Given the description of an element on the screen output the (x, y) to click on. 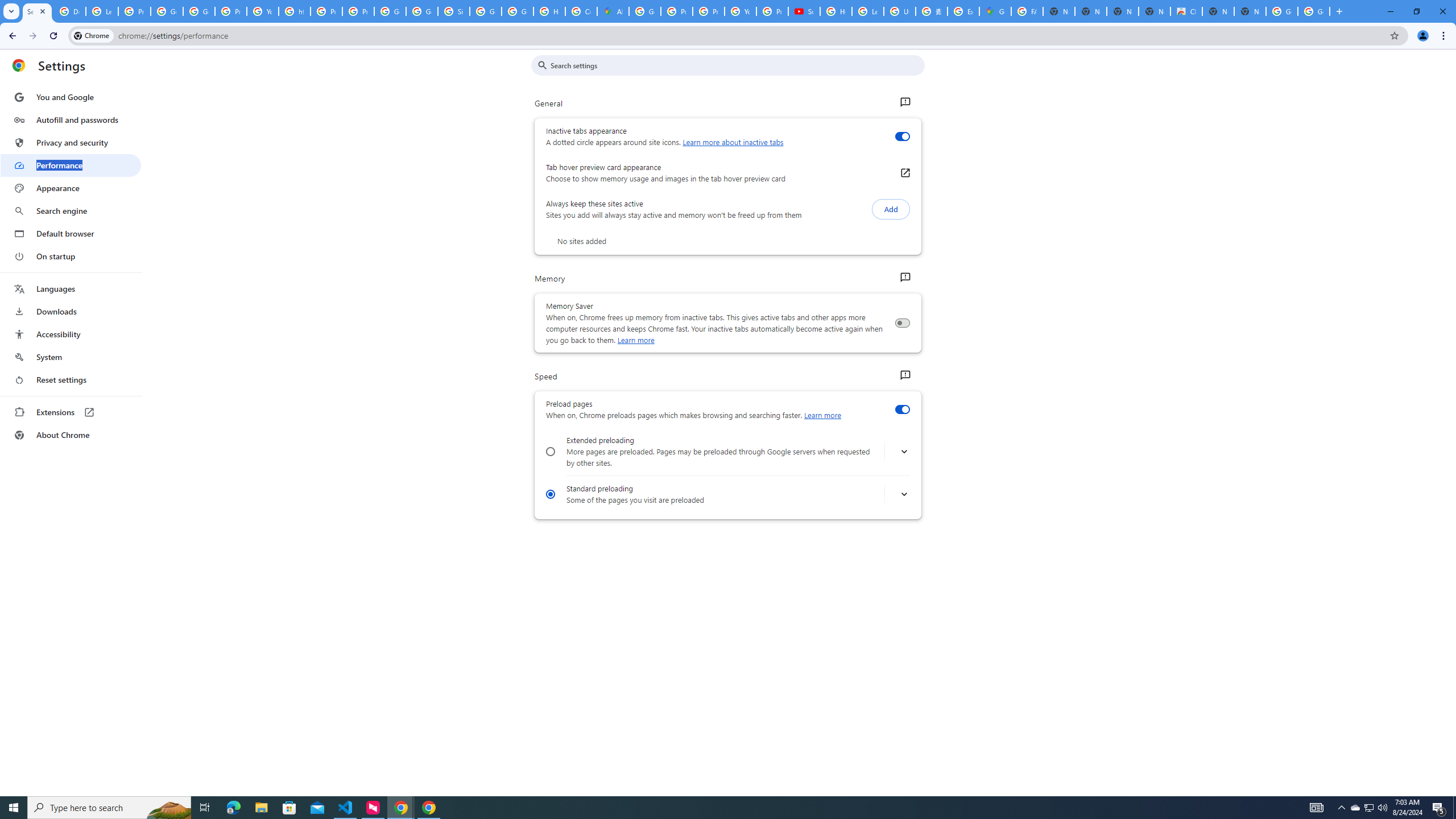
Privacy and security (70, 142)
Create your Google Account (581, 11)
Extensions (70, 412)
Standard preloading (550, 493)
General (904, 102)
YouTube (262, 11)
Accessibility (70, 333)
Default browser (70, 233)
